Given the description of an element on the screen output the (x, y) to click on. 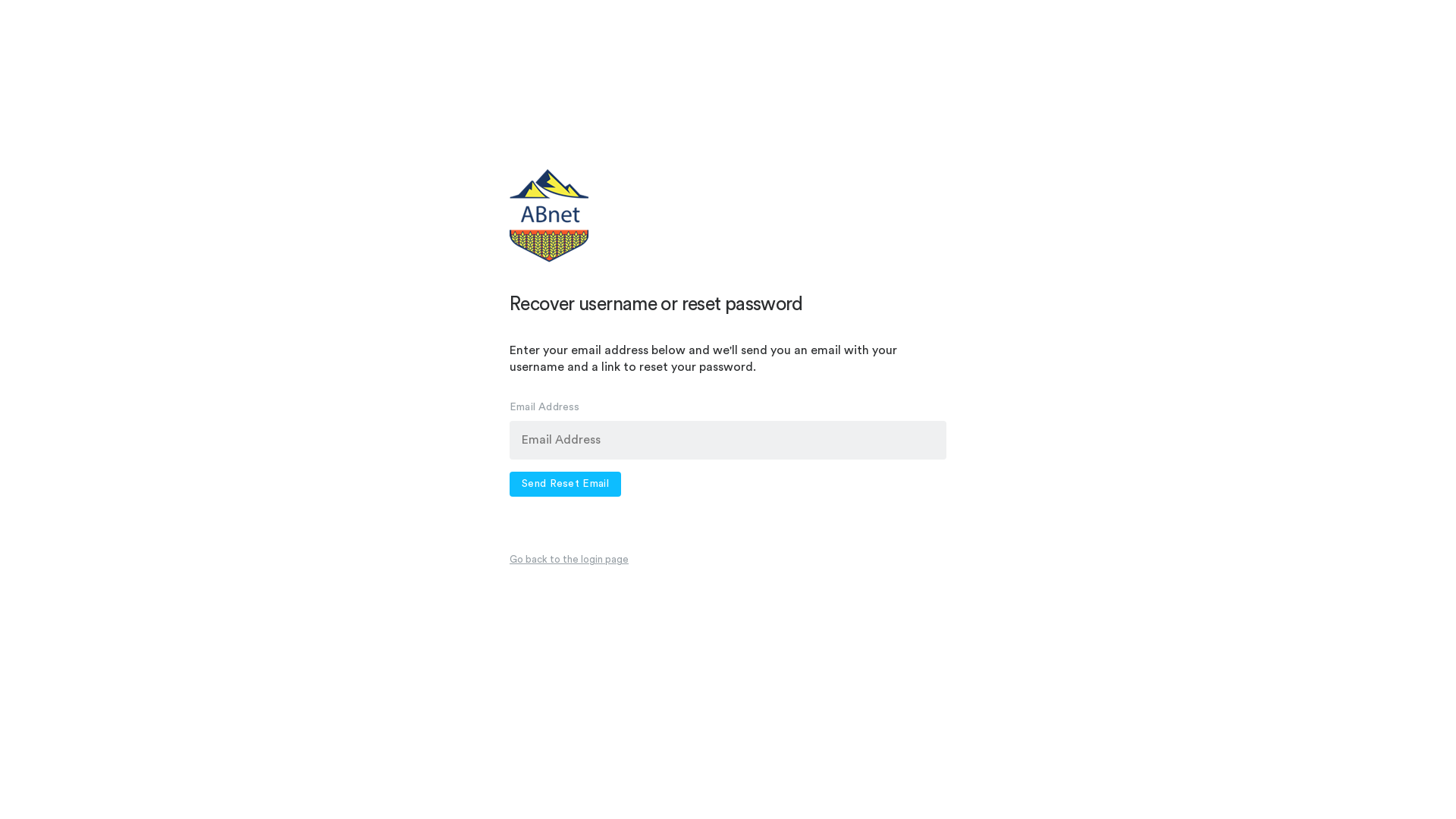
Send Reset Email Element type: text (565, 483)
Go back to the login page Element type: text (568, 559)
